Given the description of an element on the screen output the (x, y) to click on. 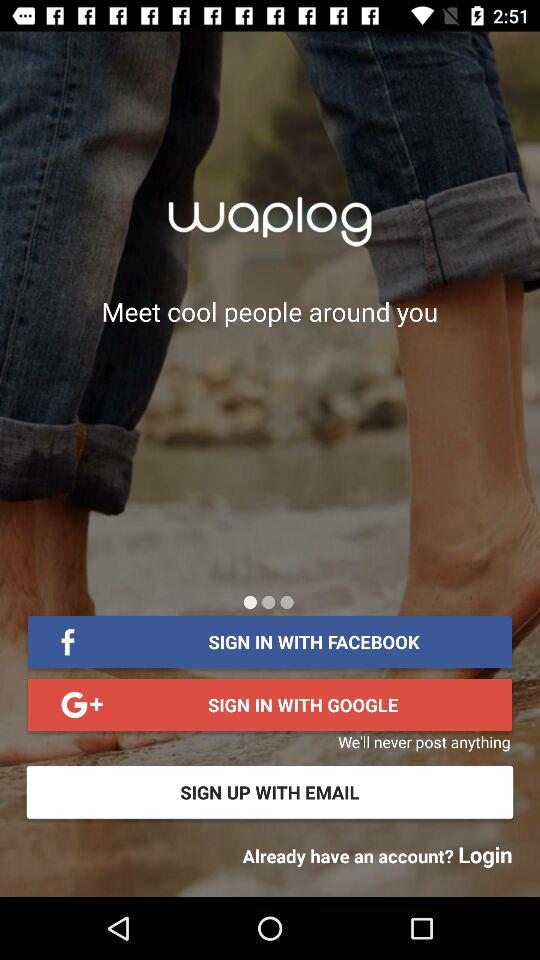
turn off the item below the meet cool people item (268, 601)
